Given the description of an element on the screen output the (x, y) to click on. 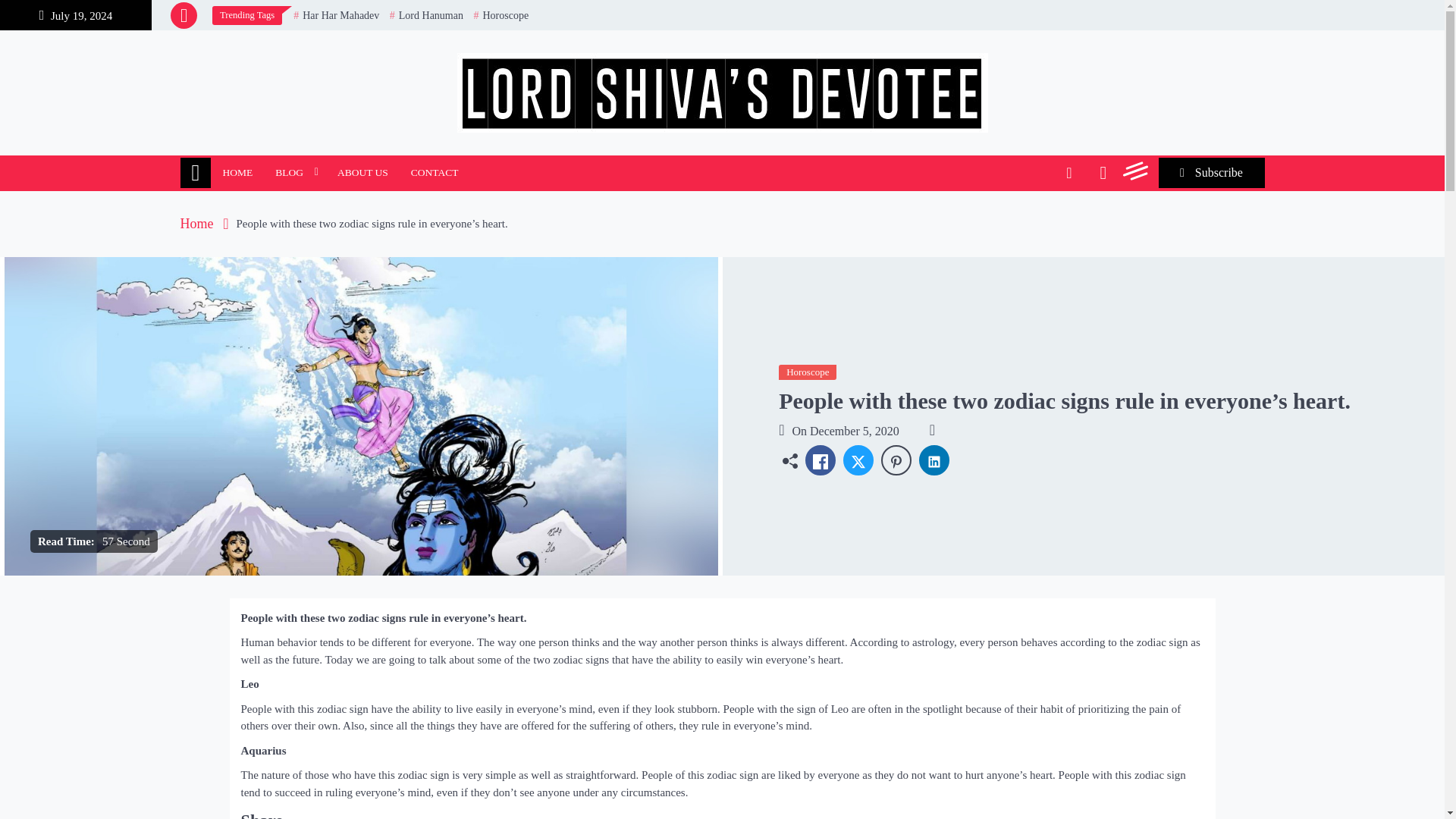
Lord Hanuman (426, 15)
ABOUT US (362, 173)
Horoscope (500, 15)
HOME (237, 173)
Lord Shiva's Devotee (301, 155)
Home (204, 222)
CONTACT (434, 173)
Har Har Mahadev (335, 15)
Subscribe (1211, 173)
Home (195, 173)
BLOG (294, 173)
